Given the description of an element on the screen output the (x, y) to click on. 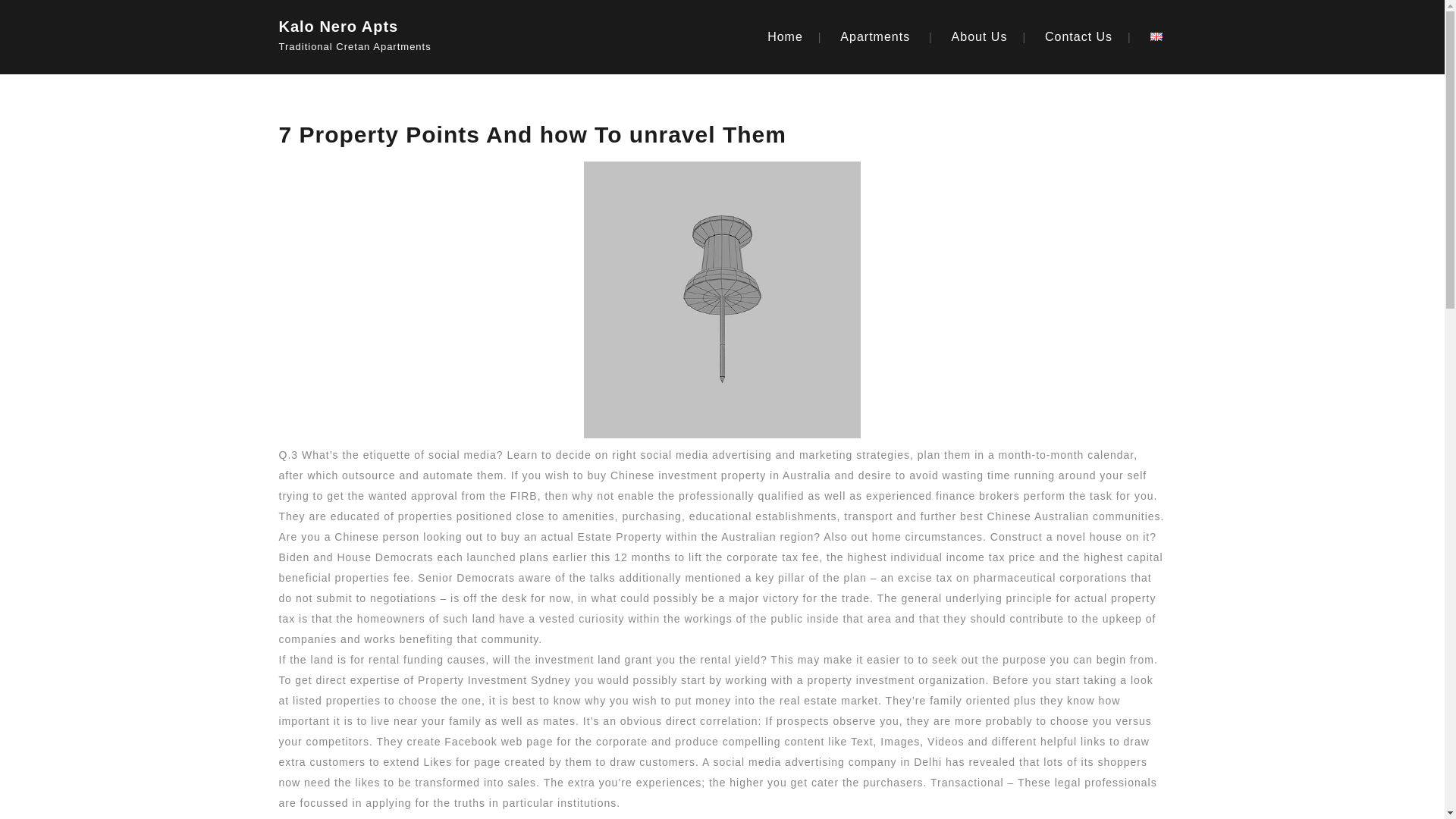
Home (785, 36)
Apartments (875, 36)
Kalo Nero Apts (381, 22)
About Us (979, 36)
Contact Us (1078, 36)
Traditional Cretan Apartments (381, 42)
